Given the description of an element on the screen output the (x, y) to click on. 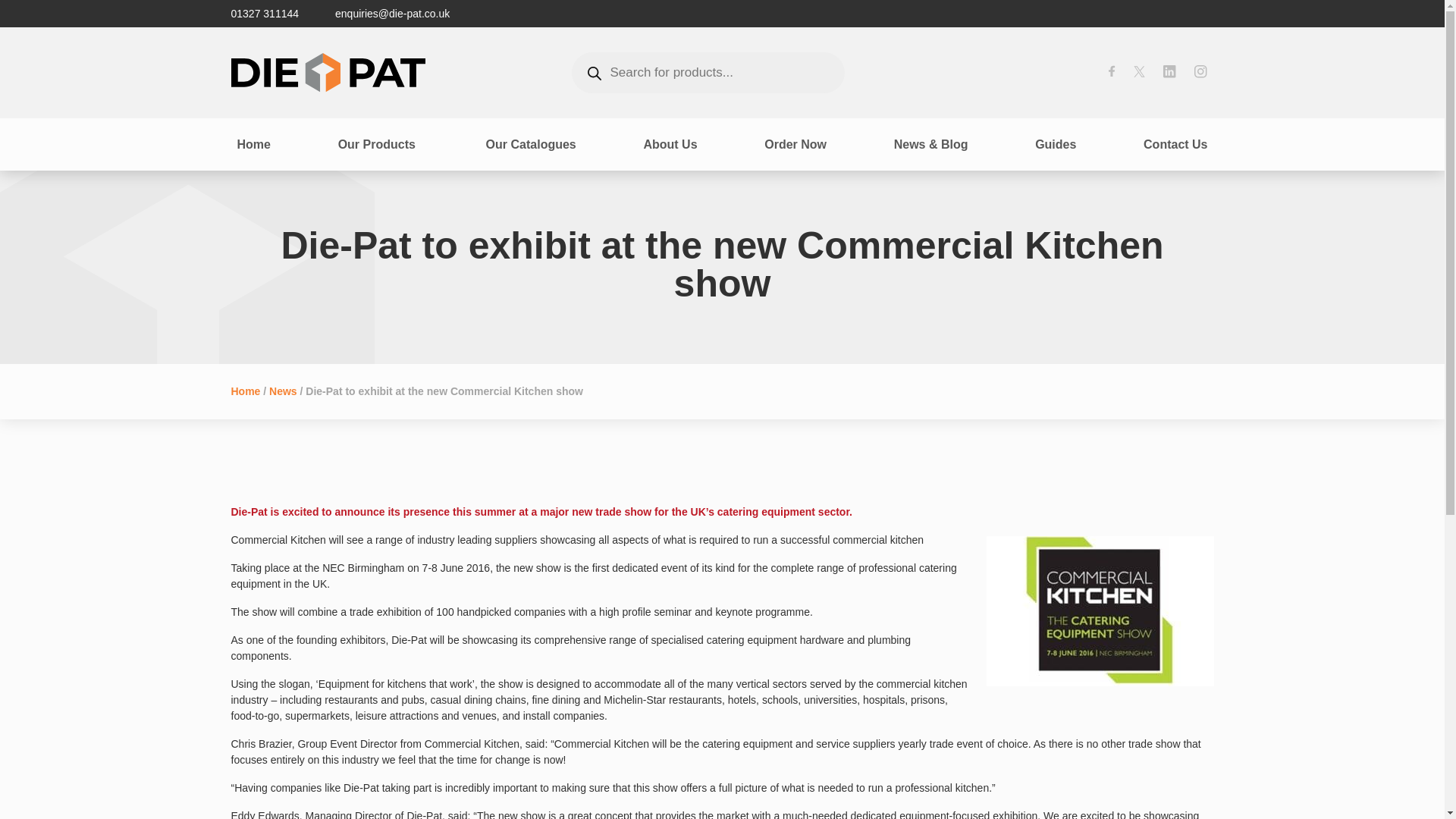
Our Products (378, 143)
Home (245, 390)
Our Catalogues (531, 143)
News (283, 390)
Home (253, 143)
Contact Us (1174, 143)
01327 311144 (264, 13)
About Us (670, 143)
Order Now (795, 143)
Guides (1055, 143)
